Given the description of an element on the screen output the (x, y) to click on. 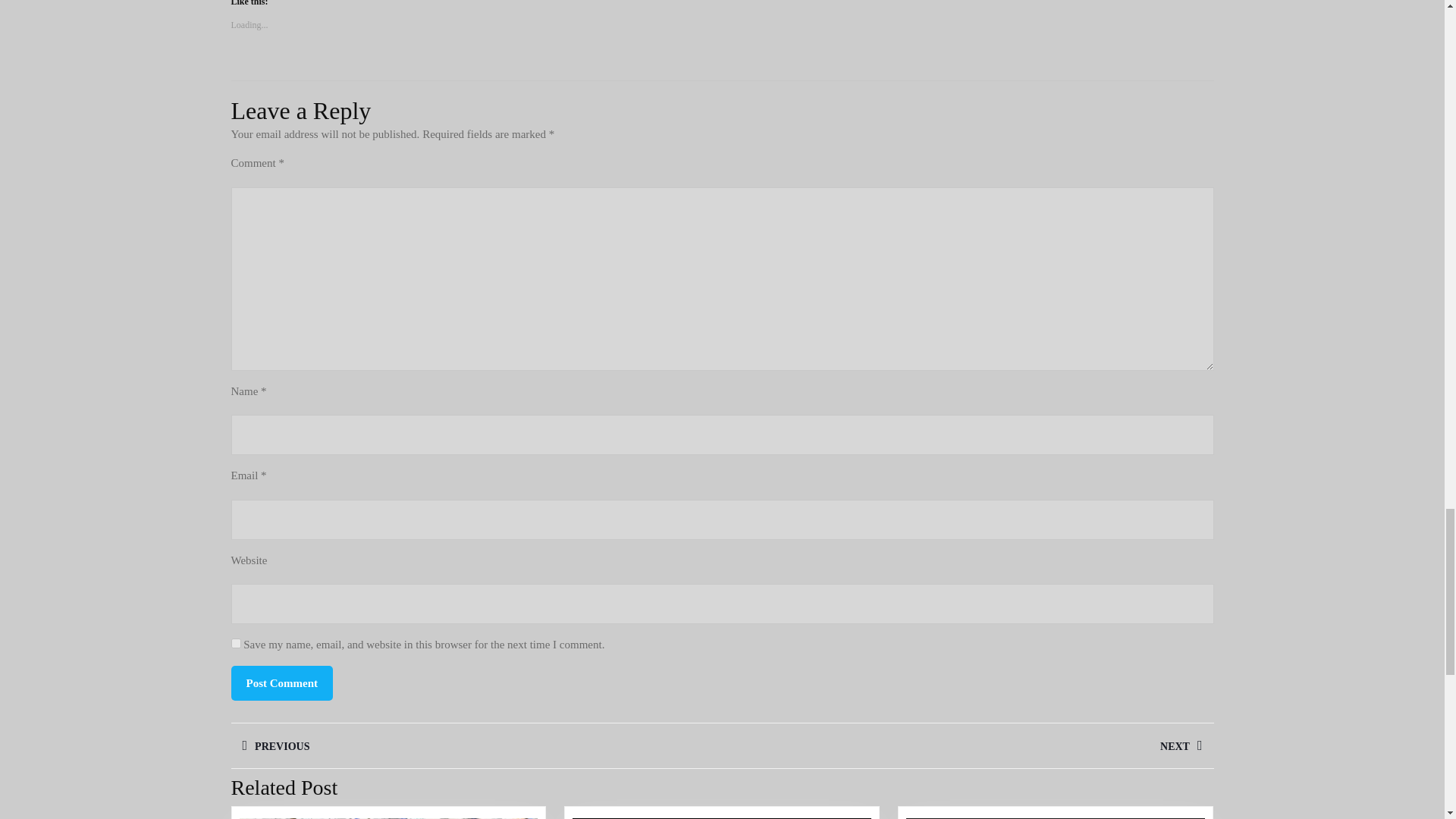
Post Comment (281, 683)
yes (235, 643)
Post Comment (281, 683)
